Given the description of an element on the screen output the (x, y) to click on. 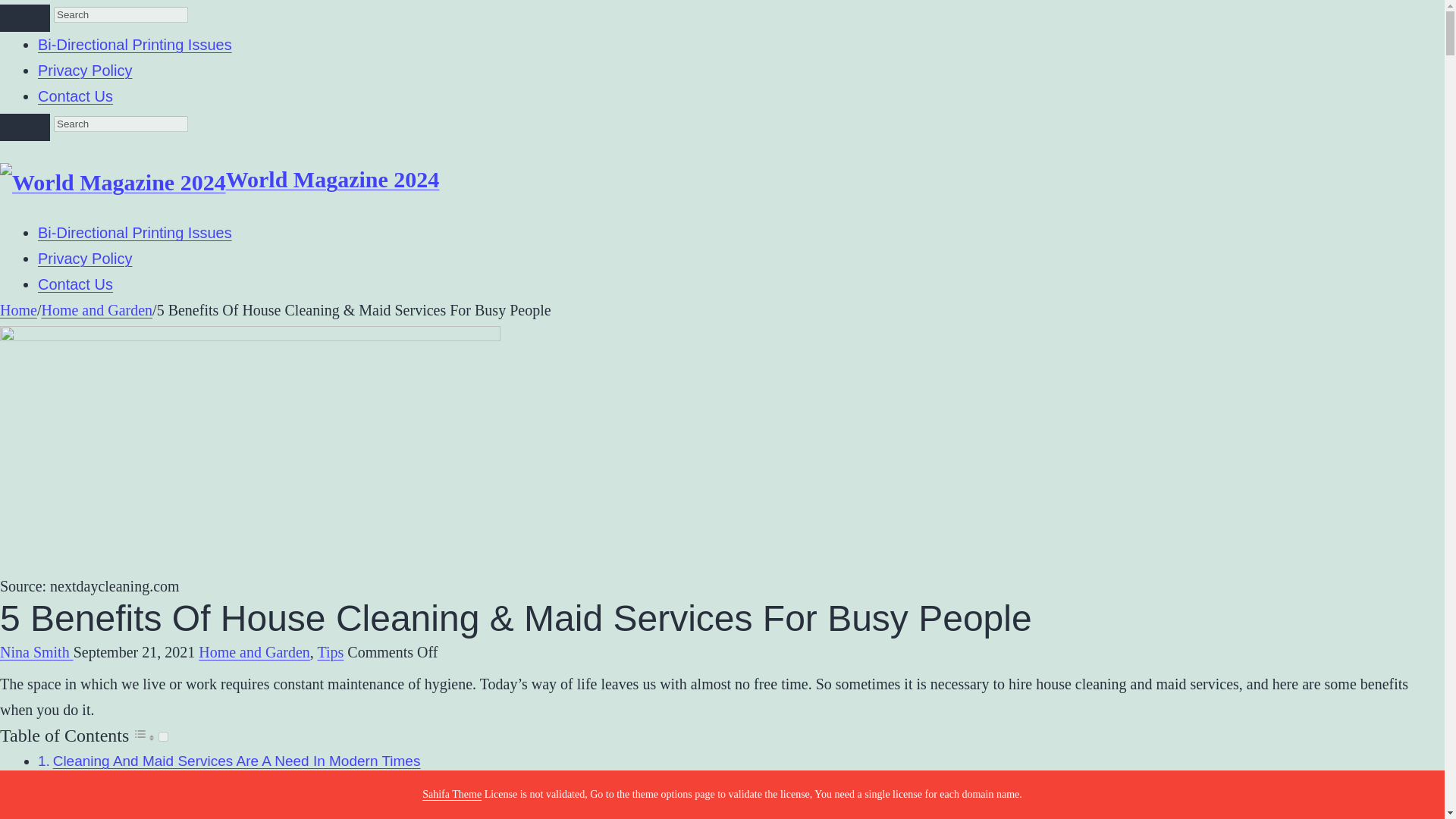
Entrust Your Cleaning To Professionals! (178, 785)
Cleaning And Maid Services Are A Need In Modern Times (236, 760)
Entrust Your Cleaning To Professionals! (178, 785)
Home and Garden (96, 310)
Search (120, 123)
Search (24, 126)
Search (120, 14)
Search (24, 17)
Privacy Policy (84, 70)
Search (120, 14)
